Given the description of an element on the screen output the (x, y) to click on. 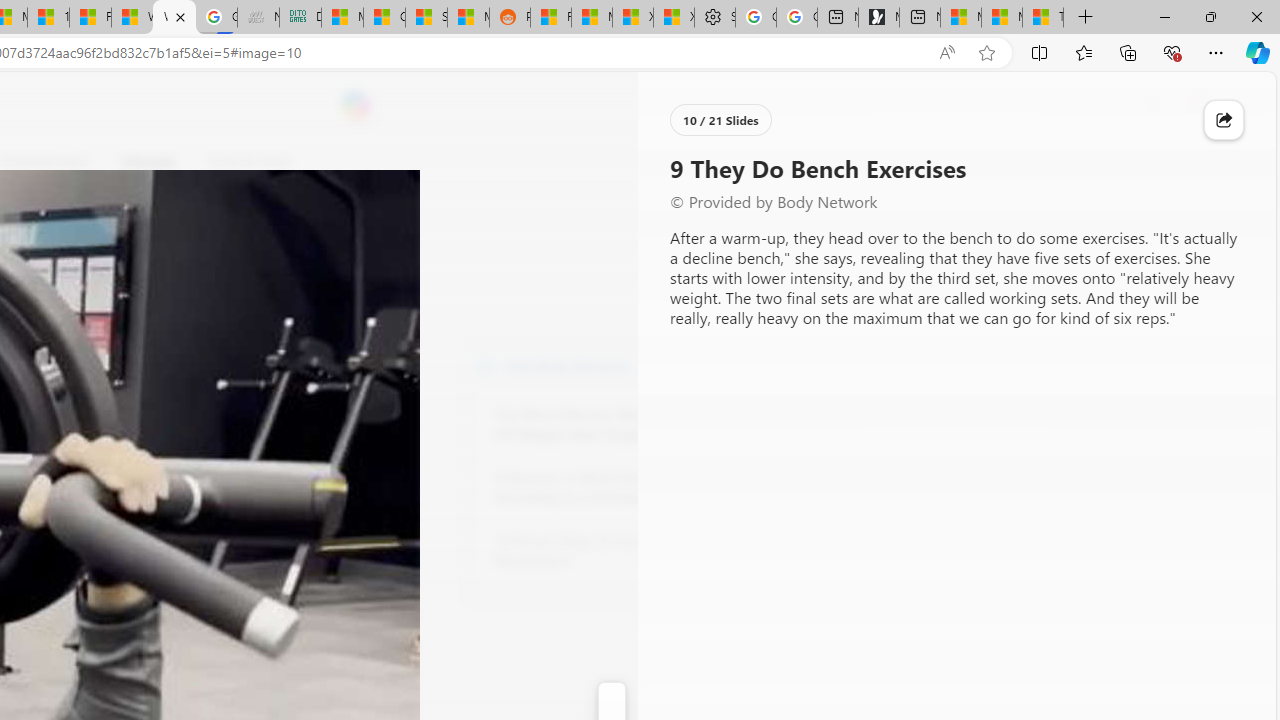
These 3 Stocks Pay You More Than 5% to Own Them (1042, 17)
Visit Body Network website (733, 364)
8 Reasons to Drink Kombucha, According to a Nutritionist (603, 488)
